Given the description of an element on the screen output the (x, y) to click on. 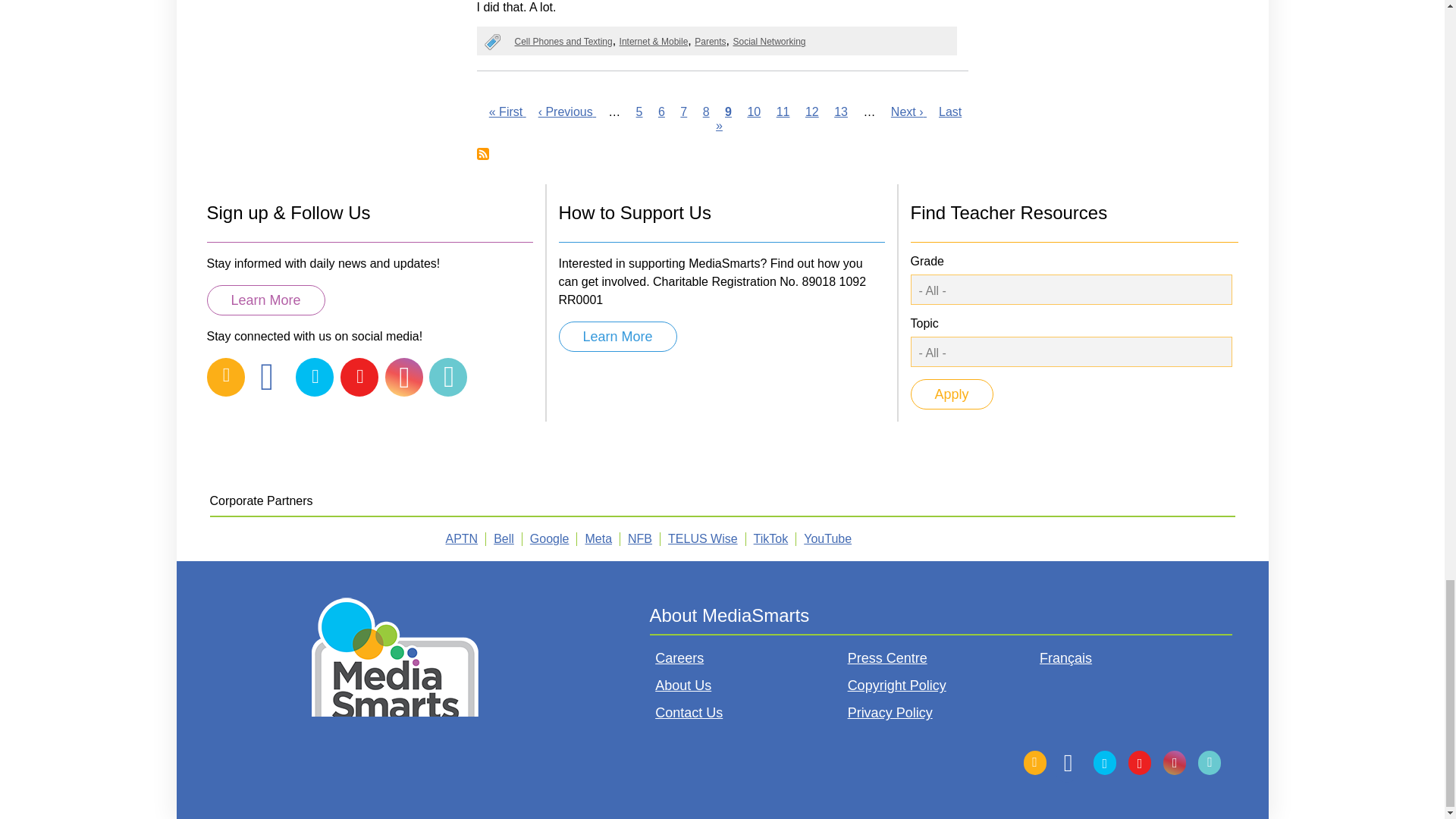
Go to next page (908, 111)
Go to last page (838, 118)
Go to page 10 (753, 111)
Go to first page (507, 111)
Go to page 11 (783, 111)
Go to page 13 (840, 111)
Go to previous page (566, 111)
Become a donor (617, 336)
Go to page 12 (811, 111)
Apply (951, 394)
